Given the description of an element on the screen output the (x, y) to click on. 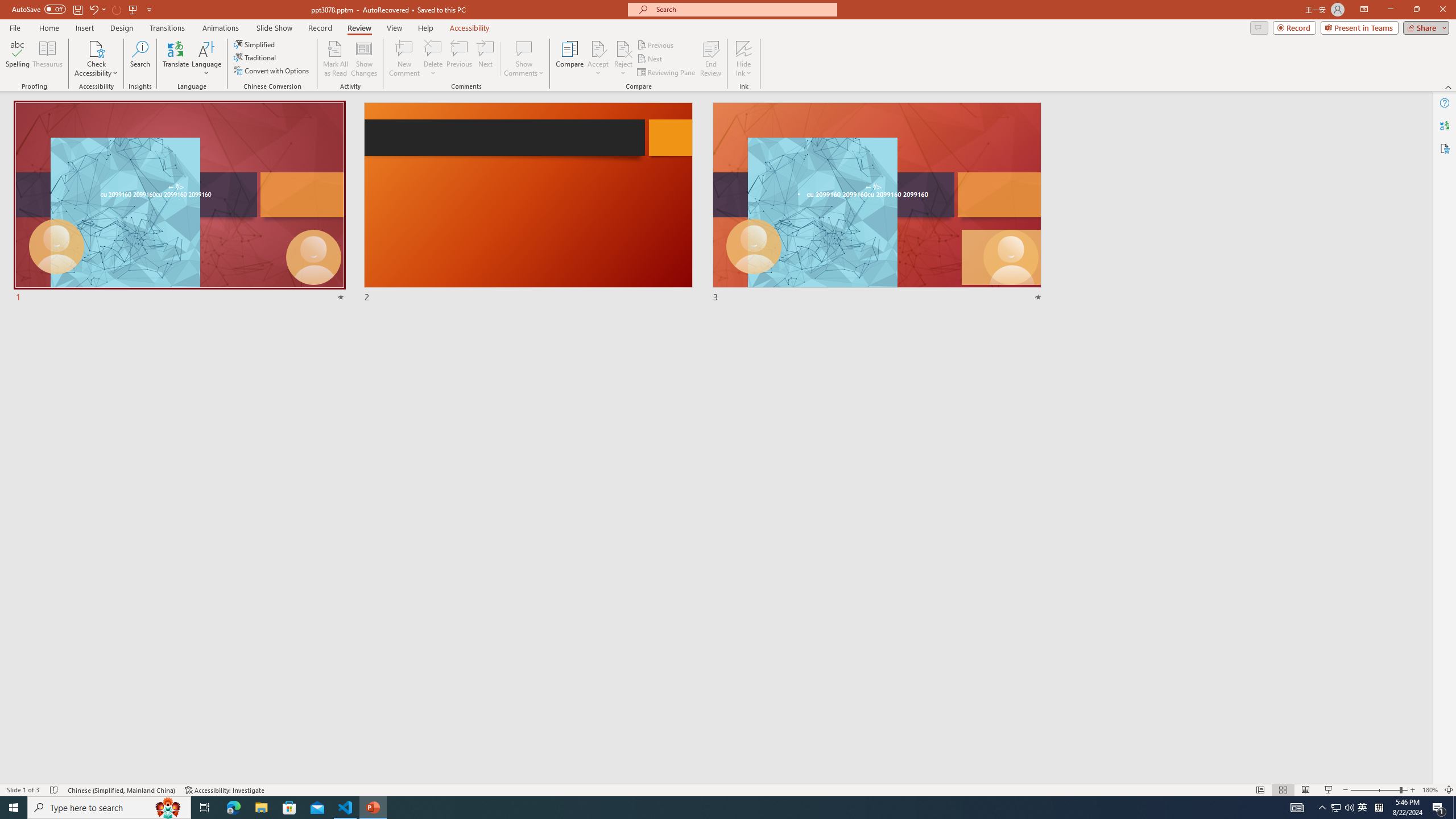
Review (359, 28)
Slide (876, 202)
From Beginning (133, 9)
Check Accessibility (95, 48)
Thesaurus... (47, 58)
Traditional (255, 56)
System (6, 6)
Translate (175, 58)
Hide Ink (743, 58)
Animations (220, 28)
Show Comments (524, 58)
Slide Show (273, 28)
Microsoft search (742, 9)
Spelling... (17, 58)
